Given the description of an element on the screen output the (x, y) to click on. 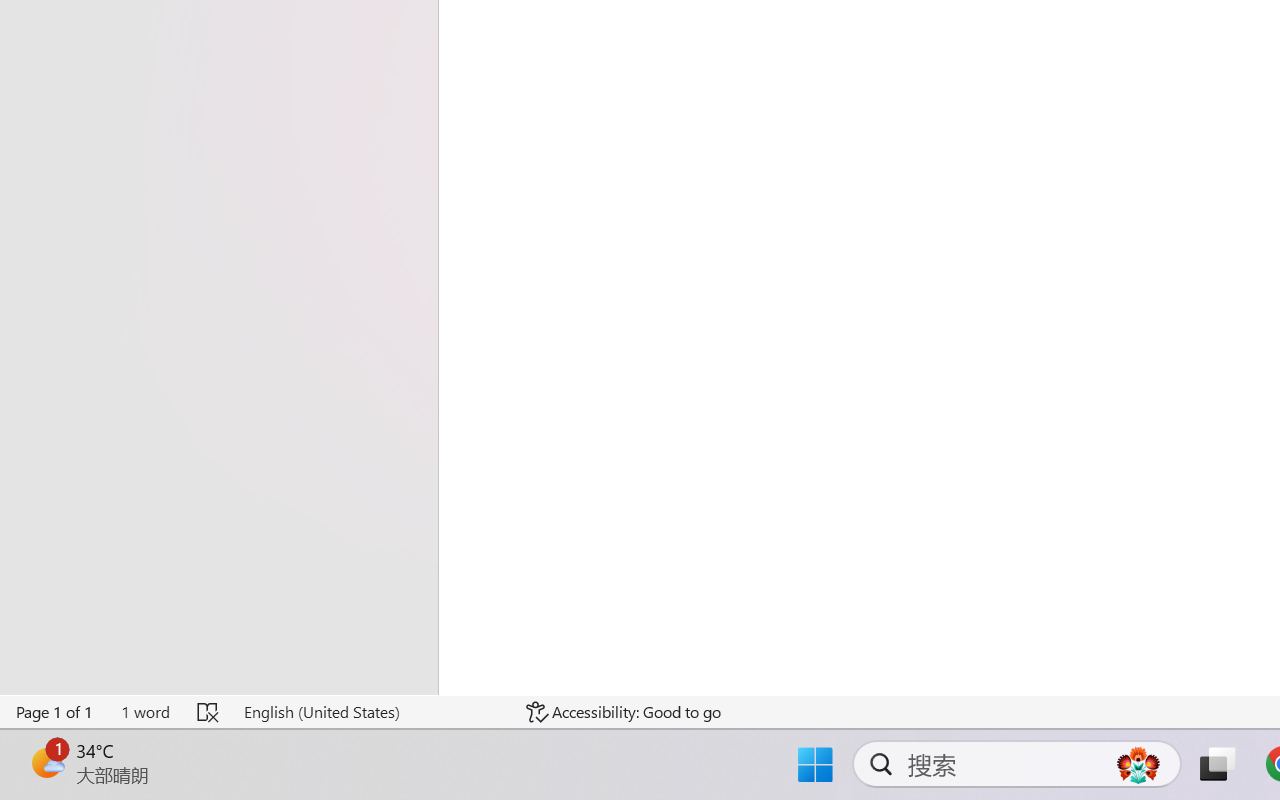
Spelling and Grammar Check Errors (208, 712)
